Given the description of an element on the screen output the (x, y) to click on. 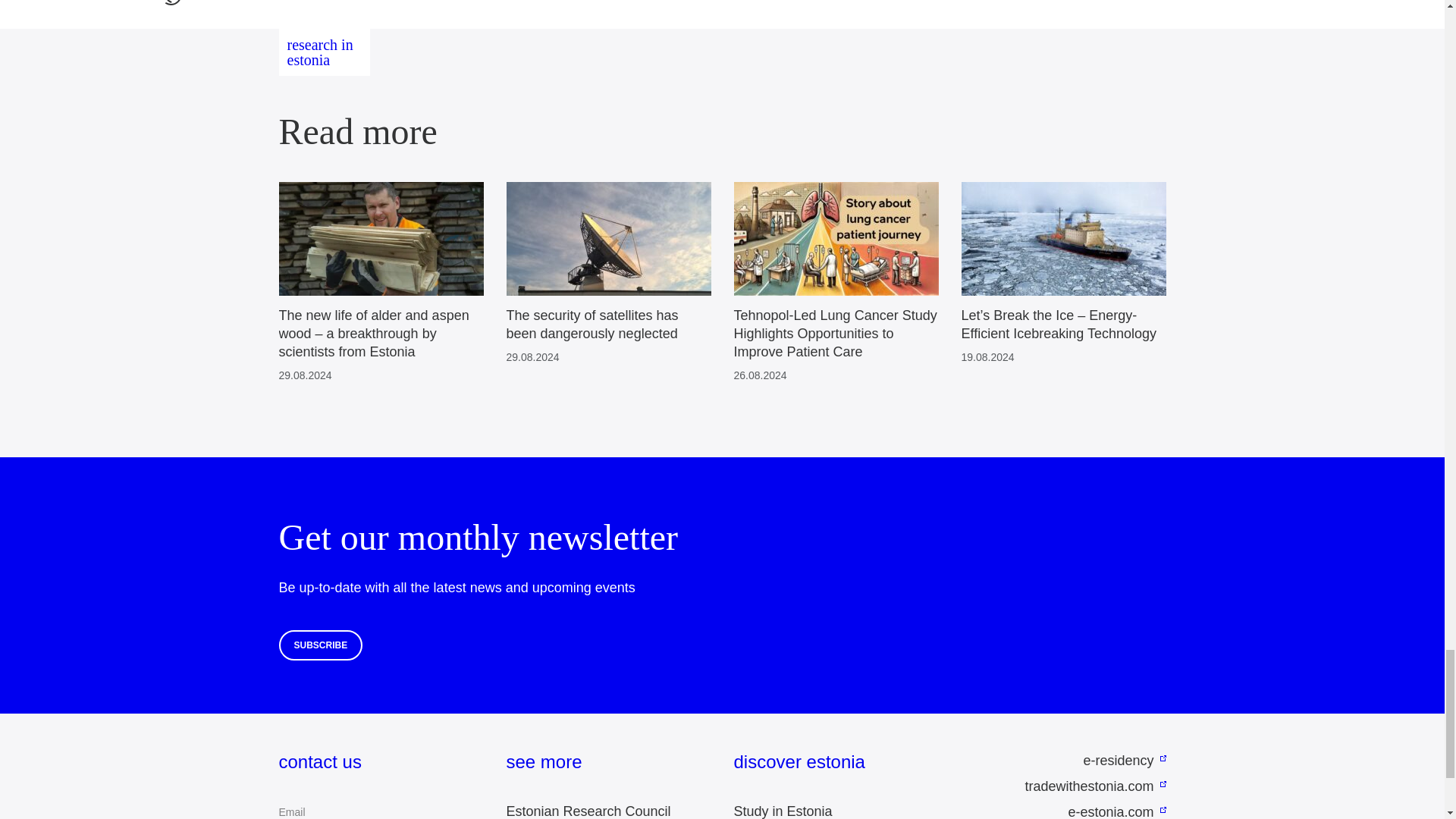
SUBSCRIBE (320, 644)
Estonian Research Council (588, 811)
